Given the description of an element on the screen output the (x, y) to click on. 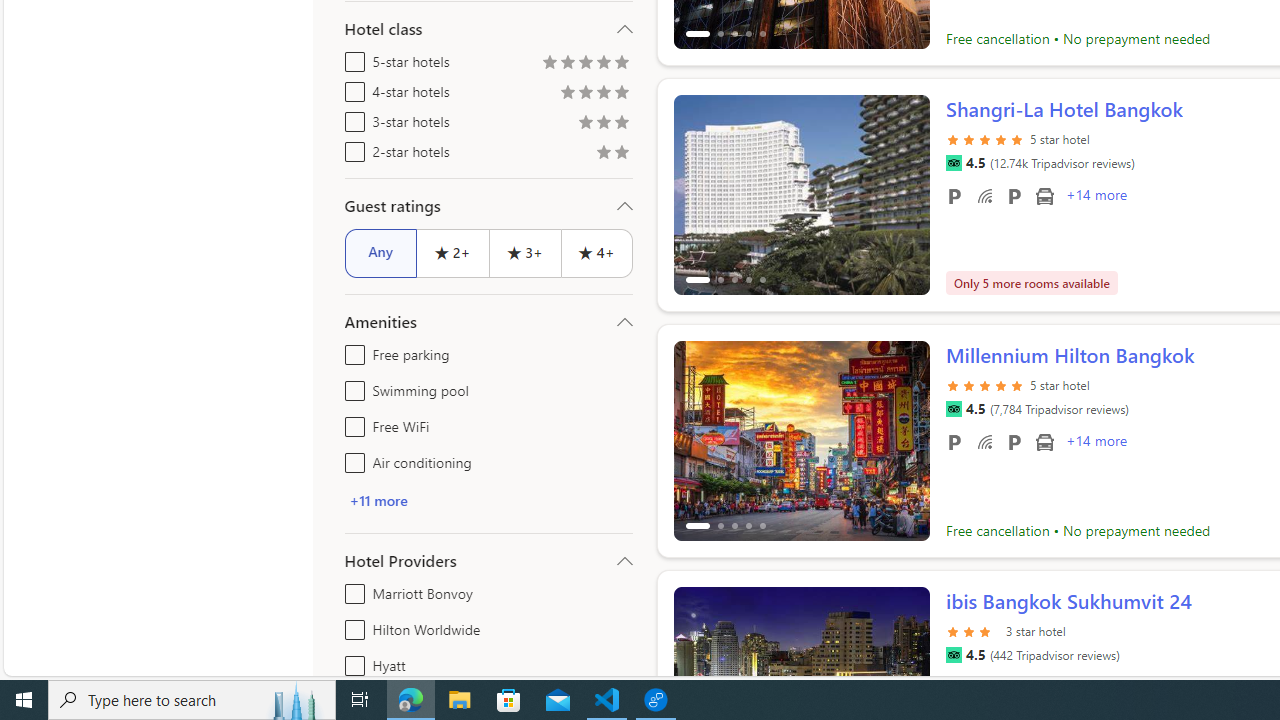
+11 more (488, 500)
